Given the description of an element on the screen output the (x, y) to click on. 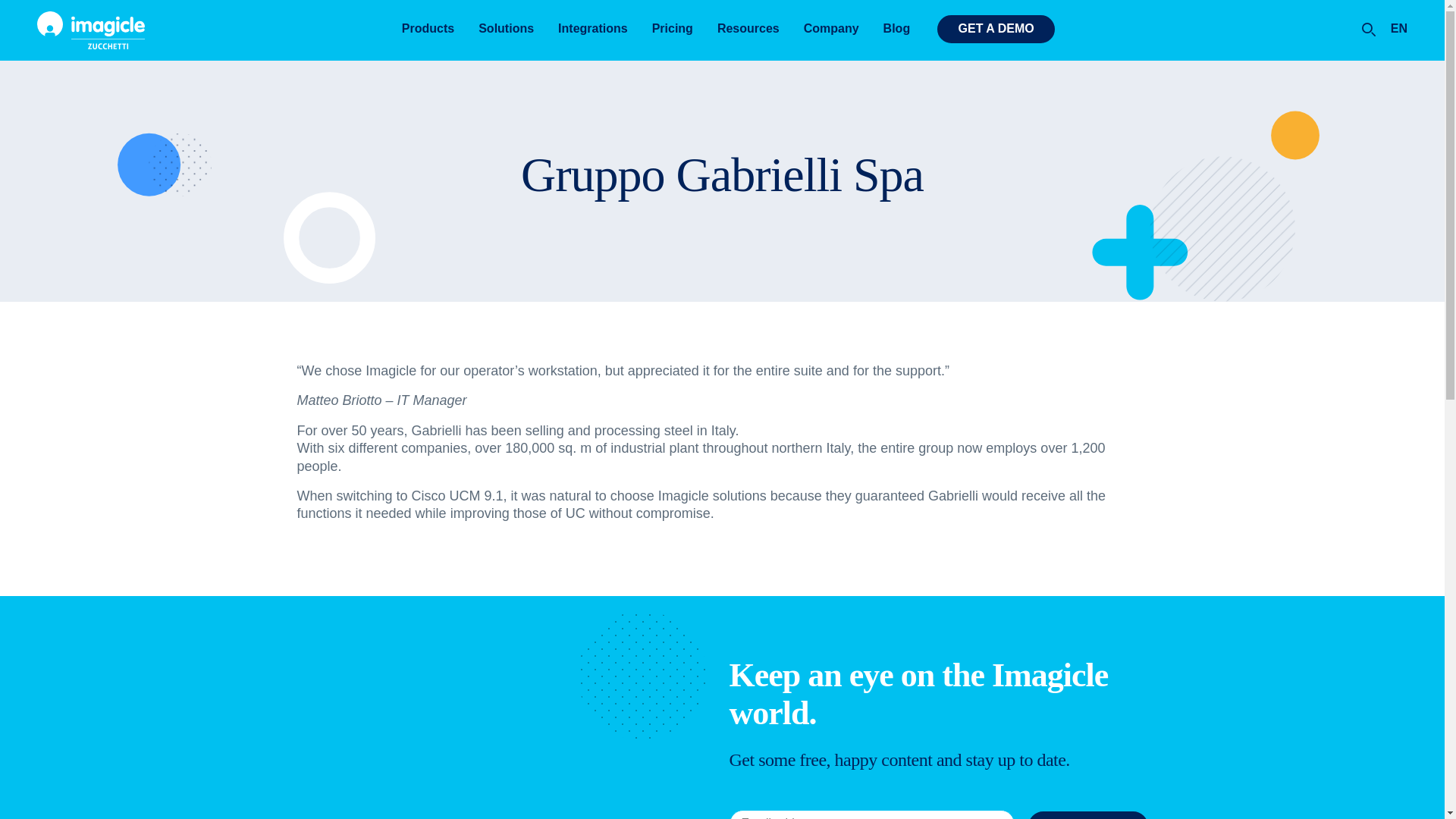
Pricing (672, 29)
Integrations (593, 29)
Resources (748, 29)
Solutions (505, 29)
EN (1391, 28)
GET A DEMO (995, 29)
Company (831, 29)
Subscribe (1087, 815)
Products (427, 29)
Blog (896, 29)
